Given the description of an element on the screen output the (x, y) to click on. 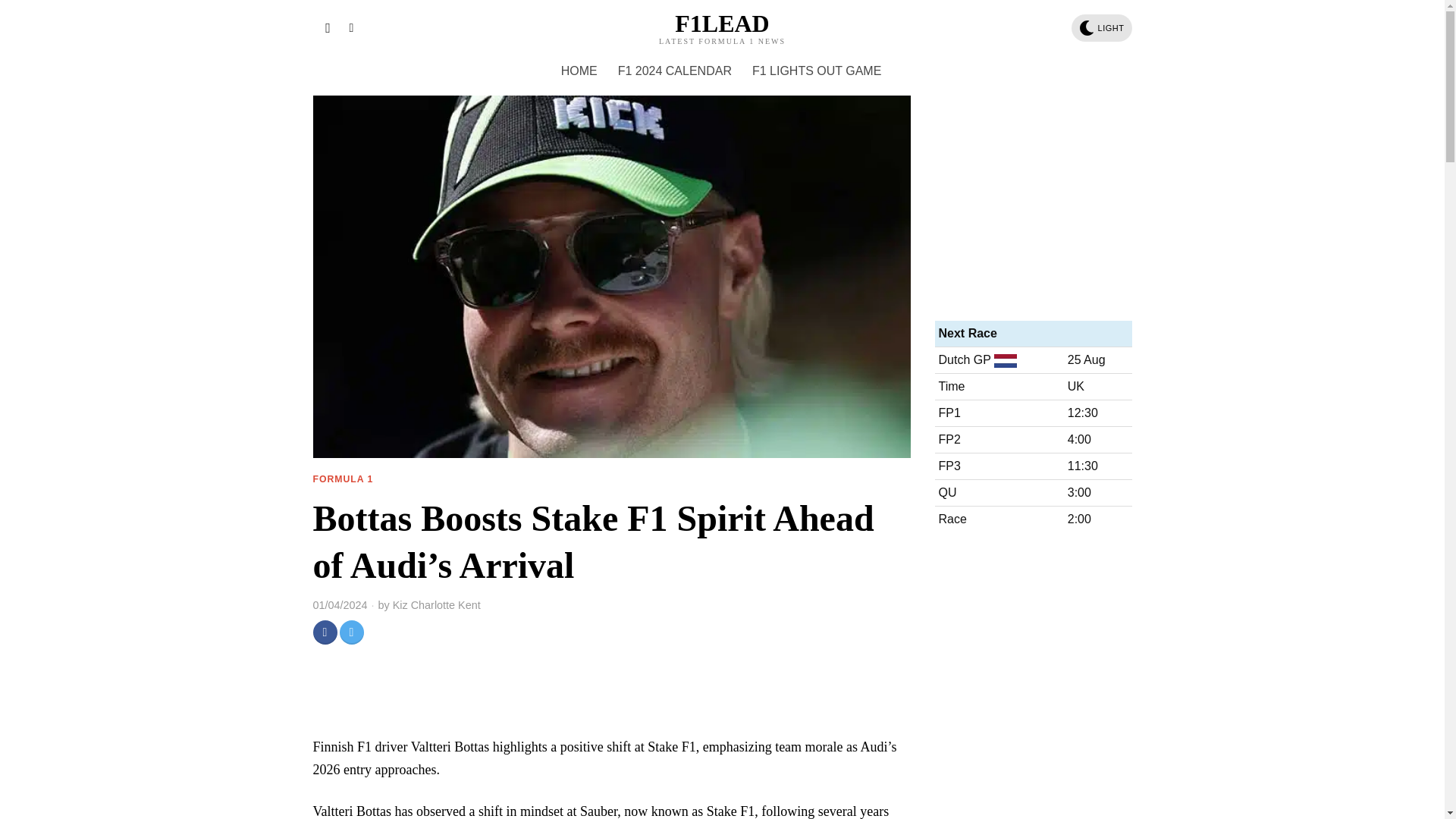
F1 LIGHTS OUT GAME (817, 71)
01 Apr, 2024 10:53:30 (339, 604)
F1LEAD (722, 23)
HOME (579, 71)
FORMULA 1 (342, 480)
F1 2024 CALENDAR (675, 71)
Kiz Charlotte Kent (436, 604)
